Given the description of an element on the screen output the (x, y) to click on. 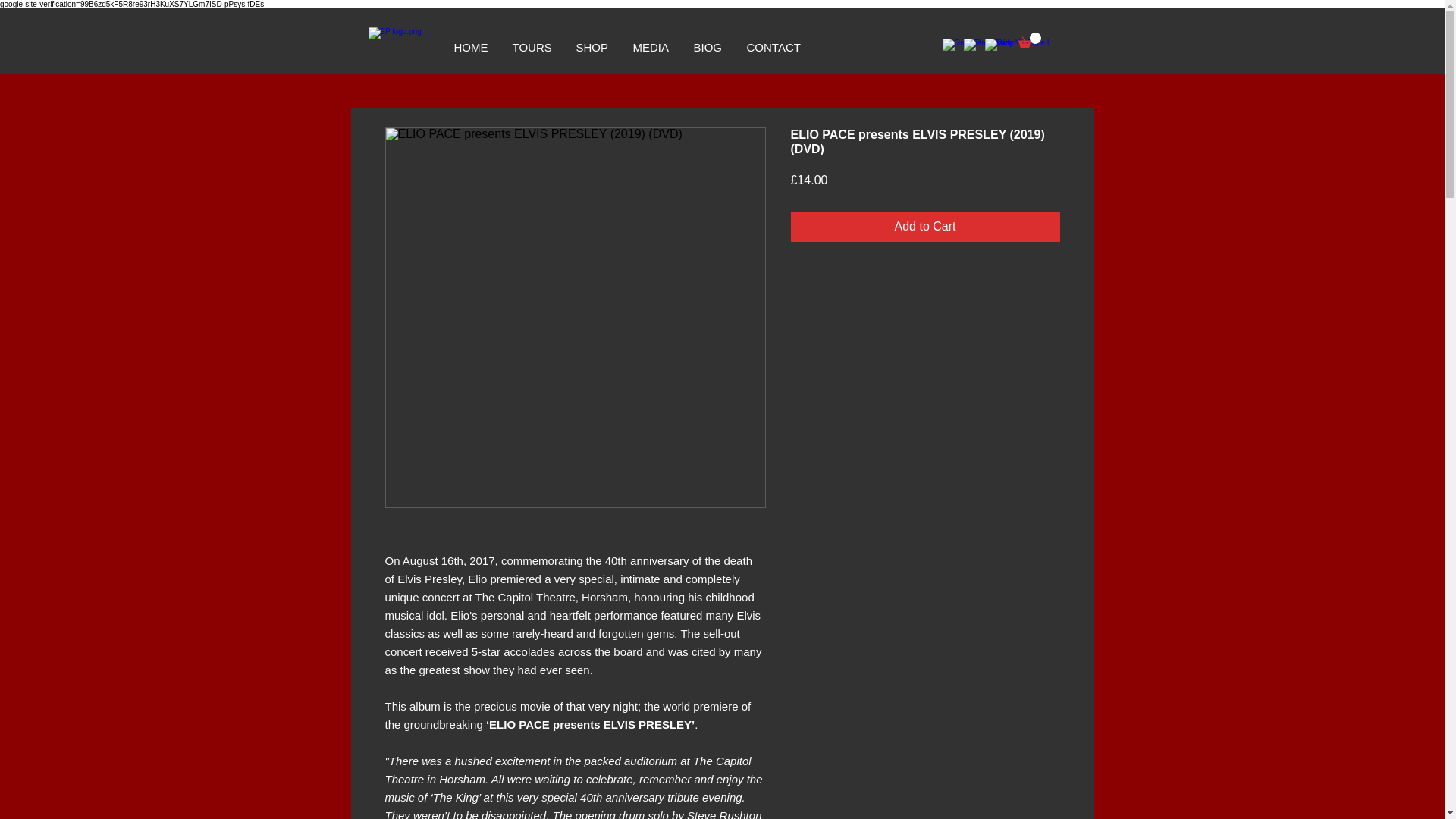
SHOP (592, 47)
CONTACT (772, 47)
HOME (470, 47)
Add to Cart (924, 226)
BIOG (707, 47)
MEDIA (650, 47)
TOURS (532, 47)
